Given the description of an element on the screen output the (x, y) to click on. 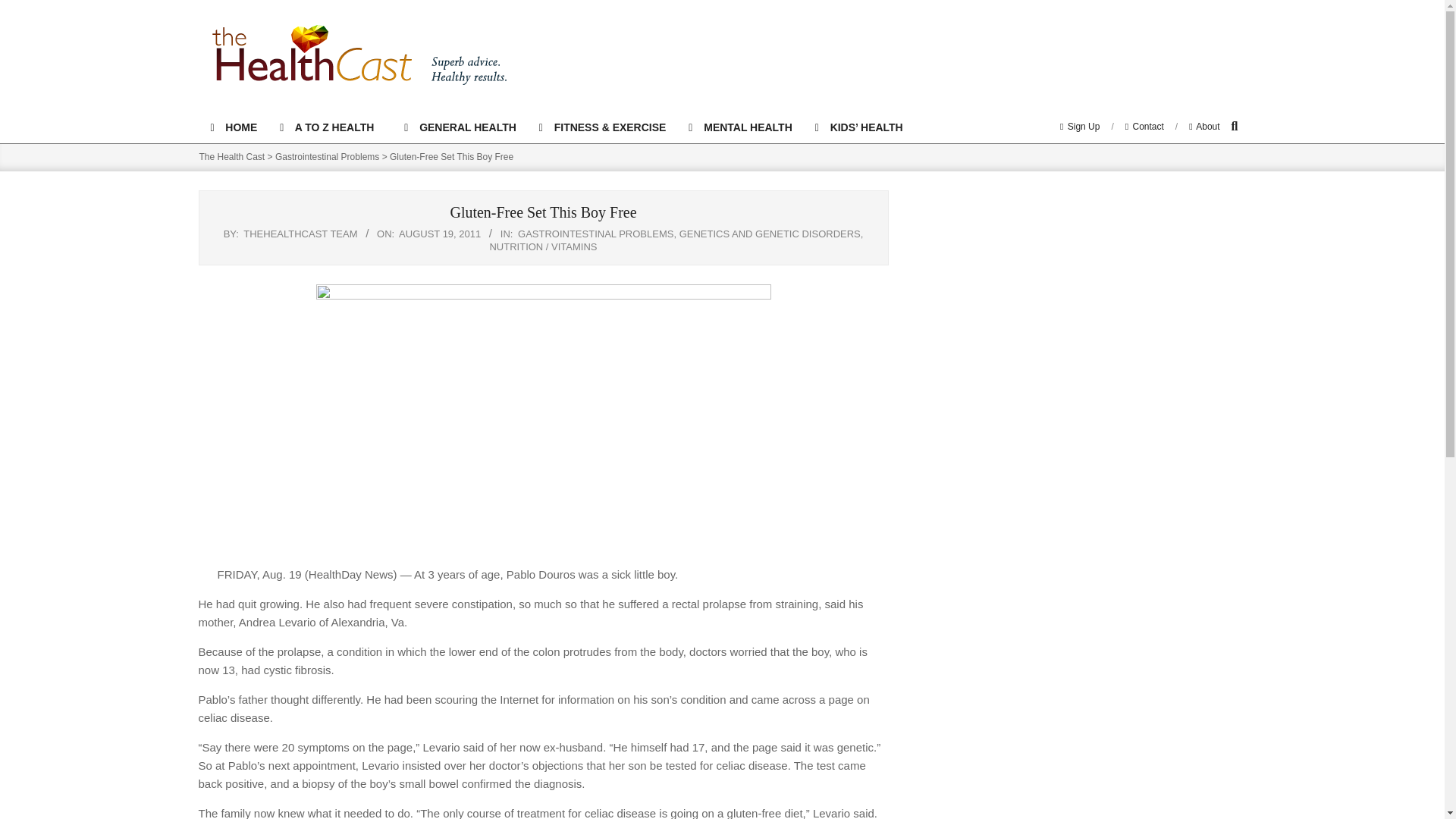
A TO Z HEALTH (330, 127)
Friday, August 19, 2011, 9:05 pm (439, 233)
HOME (232, 127)
Posts by TheHealthCast Team (299, 233)
A TO Z HEALTH (330, 127)
